Given the description of an element on the screen output the (x, y) to click on. 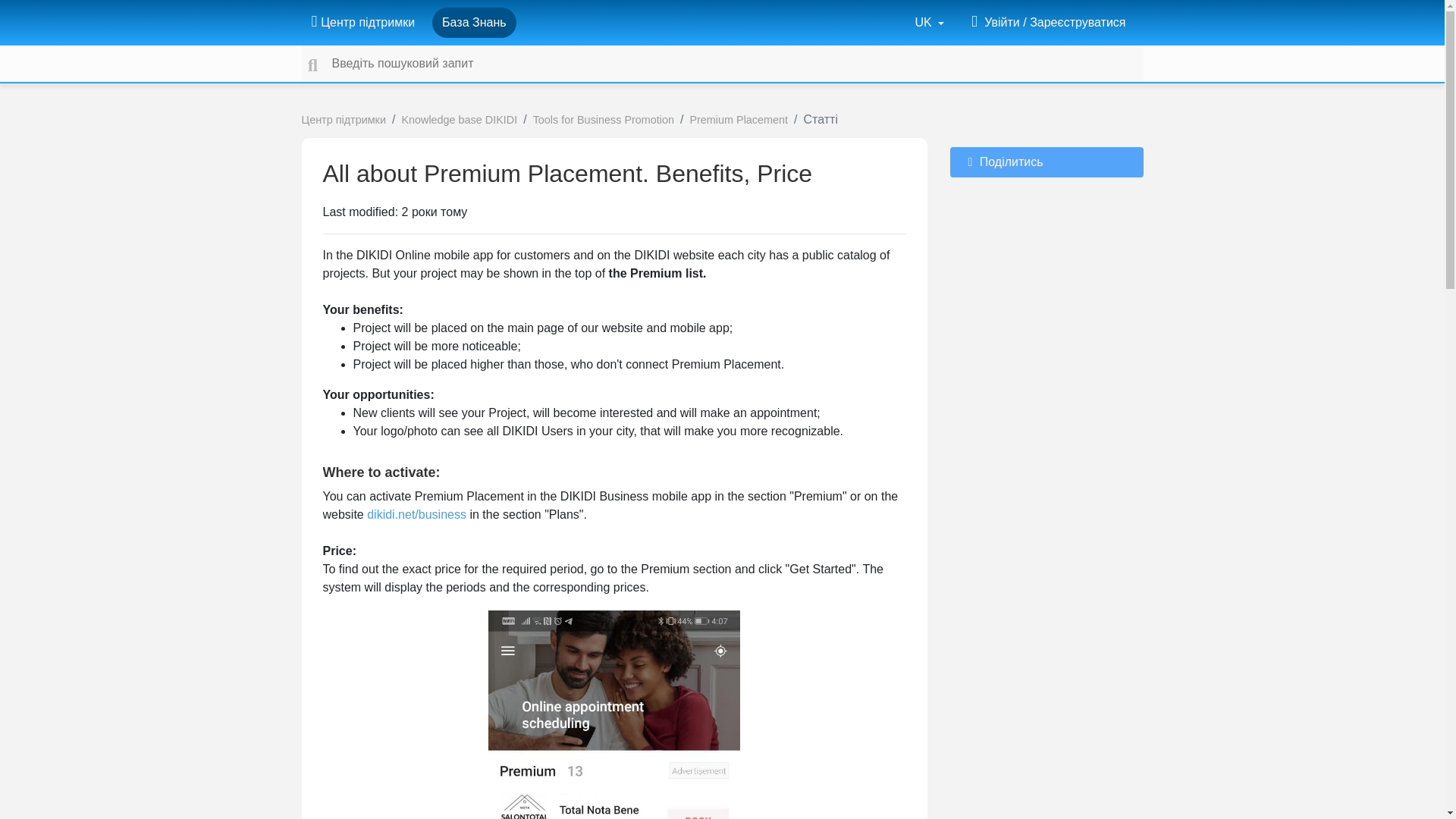
Knowledge base DIKIDI (458, 119)
UK (929, 22)
Tools for Business Promotion (603, 119)
Premium Placement (737, 119)
